Given the description of an element on the screen output the (x, y) to click on. 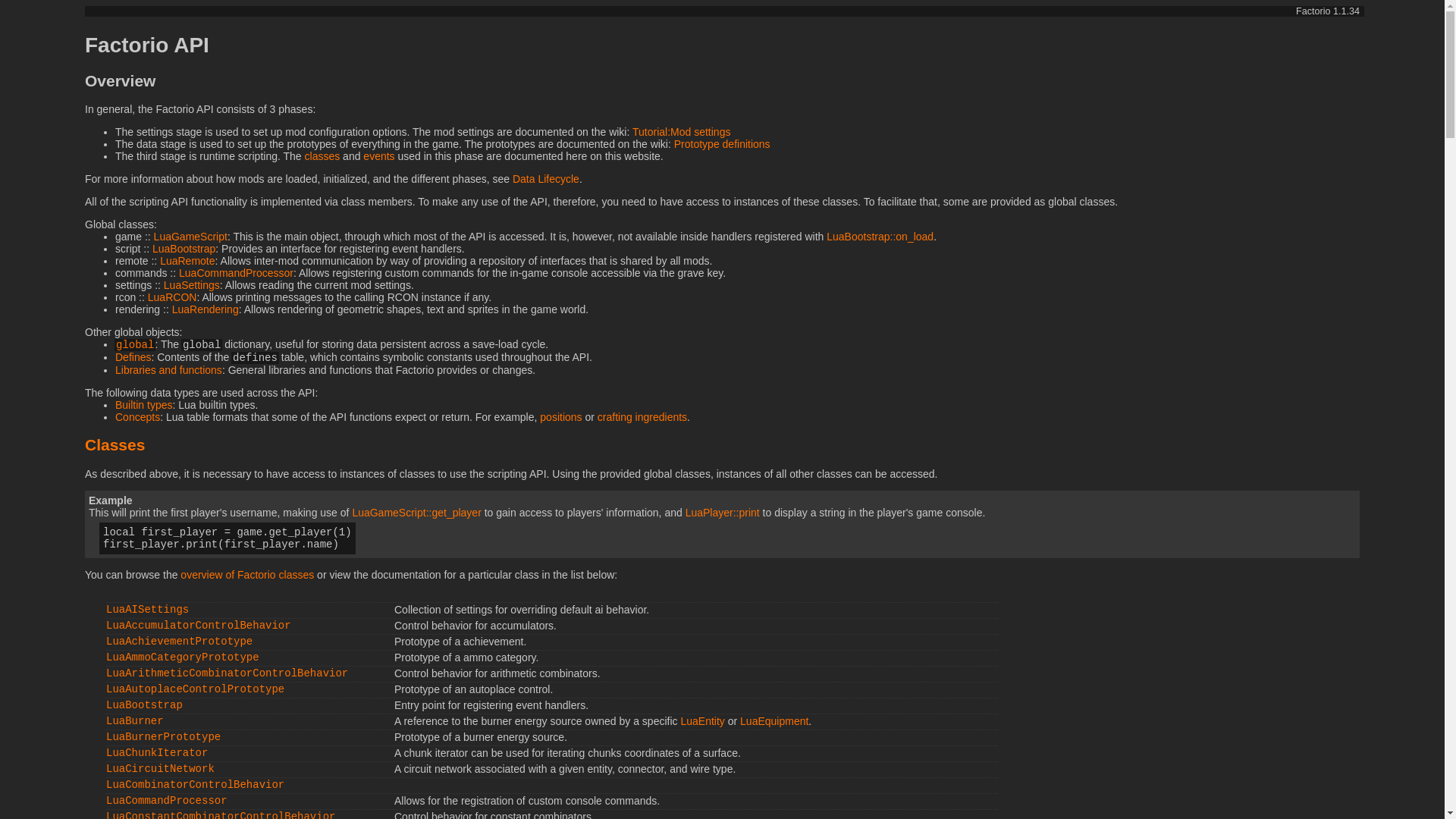
Builtin types (143, 404)
LuaArithmeticCombinatorControlBehavior (226, 673)
LuaRendering (204, 309)
LuaSettings (191, 285)
LuaAchievementPrototype (178, 641)
LuaBurnerPrototype (163, 736)
Concepts (137, 417)
Data Lifecycle (545, 178)
LuaAmmoCategoryPrototype (182, 657)
LuaBootstrap (183, 248)
LuaBootstrap (144, 705)
Tutorial:Mod settings (680, 132)
overview of Factorio classes (247, 574)
Libraries and functions (168, 369)
LuaRCON (172, 297)
